Given the description of an element on the screen output the (x, y) to click on. 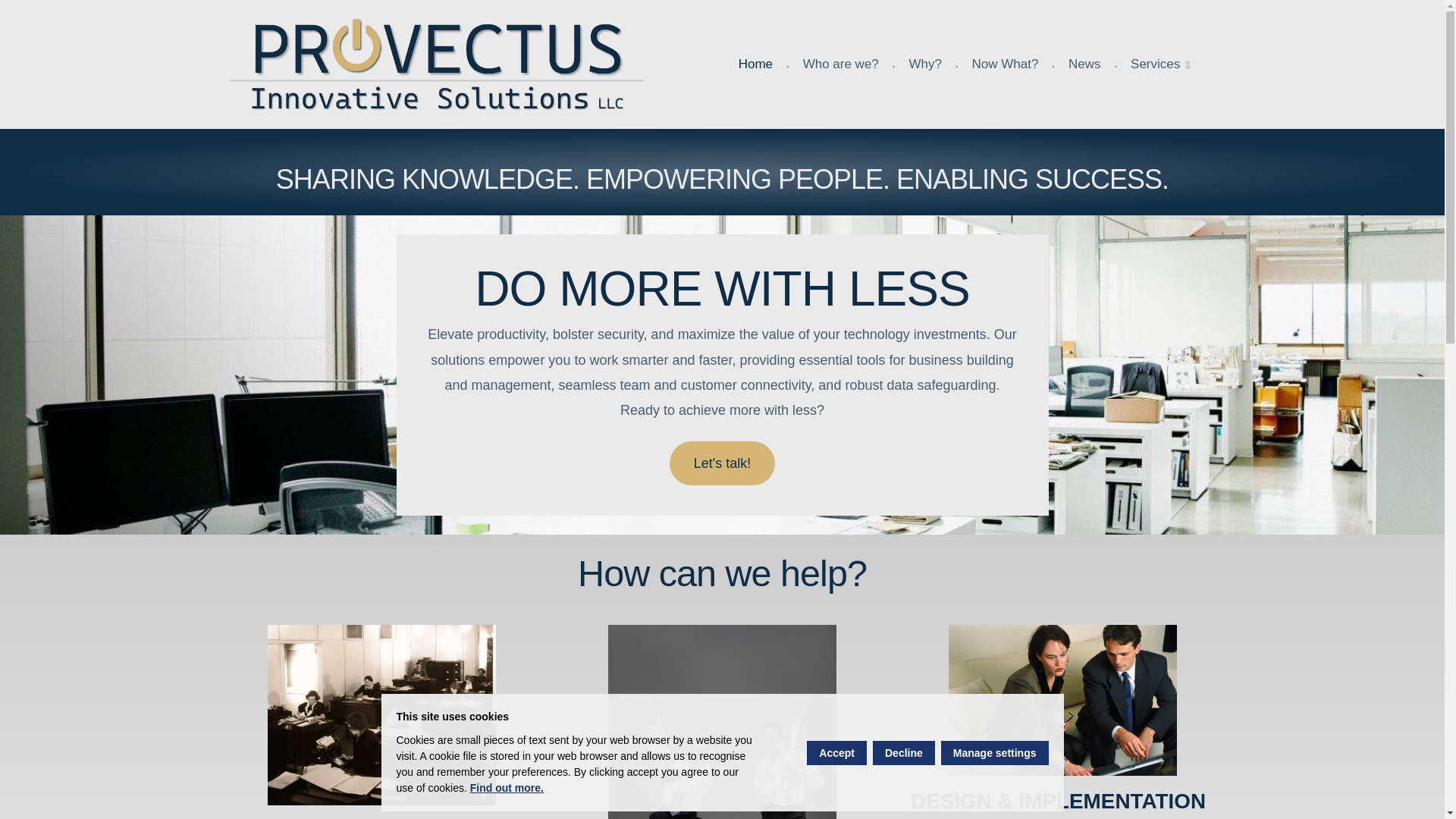
Find out more. (506, 787)
Who are we? (840, 63)
News (1084, 63)
Home (755, 63)
Why? (924, 63)
Decline (903, 752)
Now What? (1004, 63)
Let's talk! (721, 463)
Manage settings (994, 752)
Accept (836, 752)
